Given the description of an element on the screen output the (x, y) to click on. 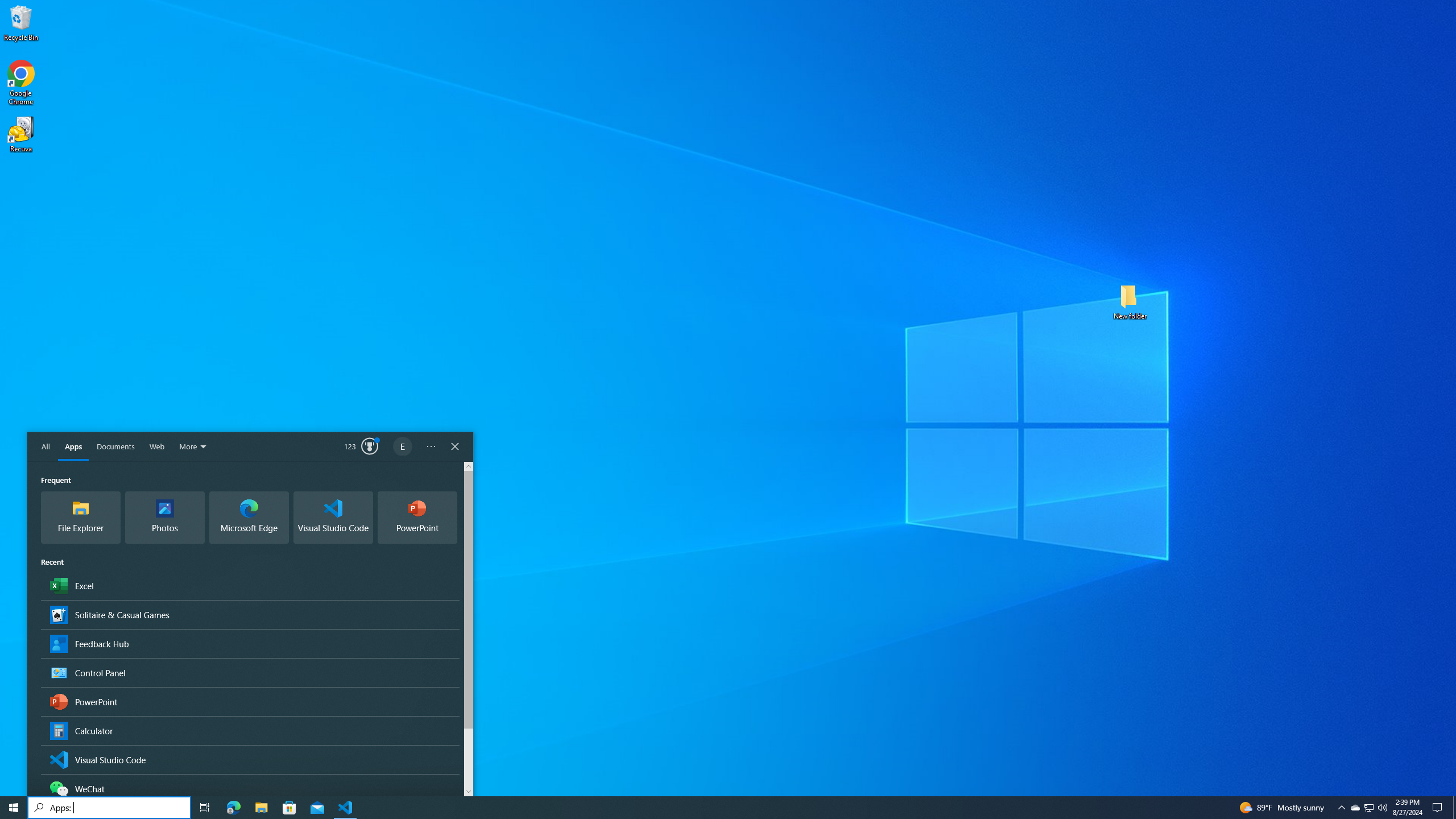
Frequent Group,File Explorer, App (80, 517)
Documents (115, 447)
EugeneLedger601@outlook.com (403, 447)
Web (156, 447)
More (193, 447)
Close Windows Search (454, 447)
Feedback Hub, App (250, 642)
Control Panel, App (250, 672)
Options (430, 447)
